Given the description of an element on the screen output the (x, y) to click on. 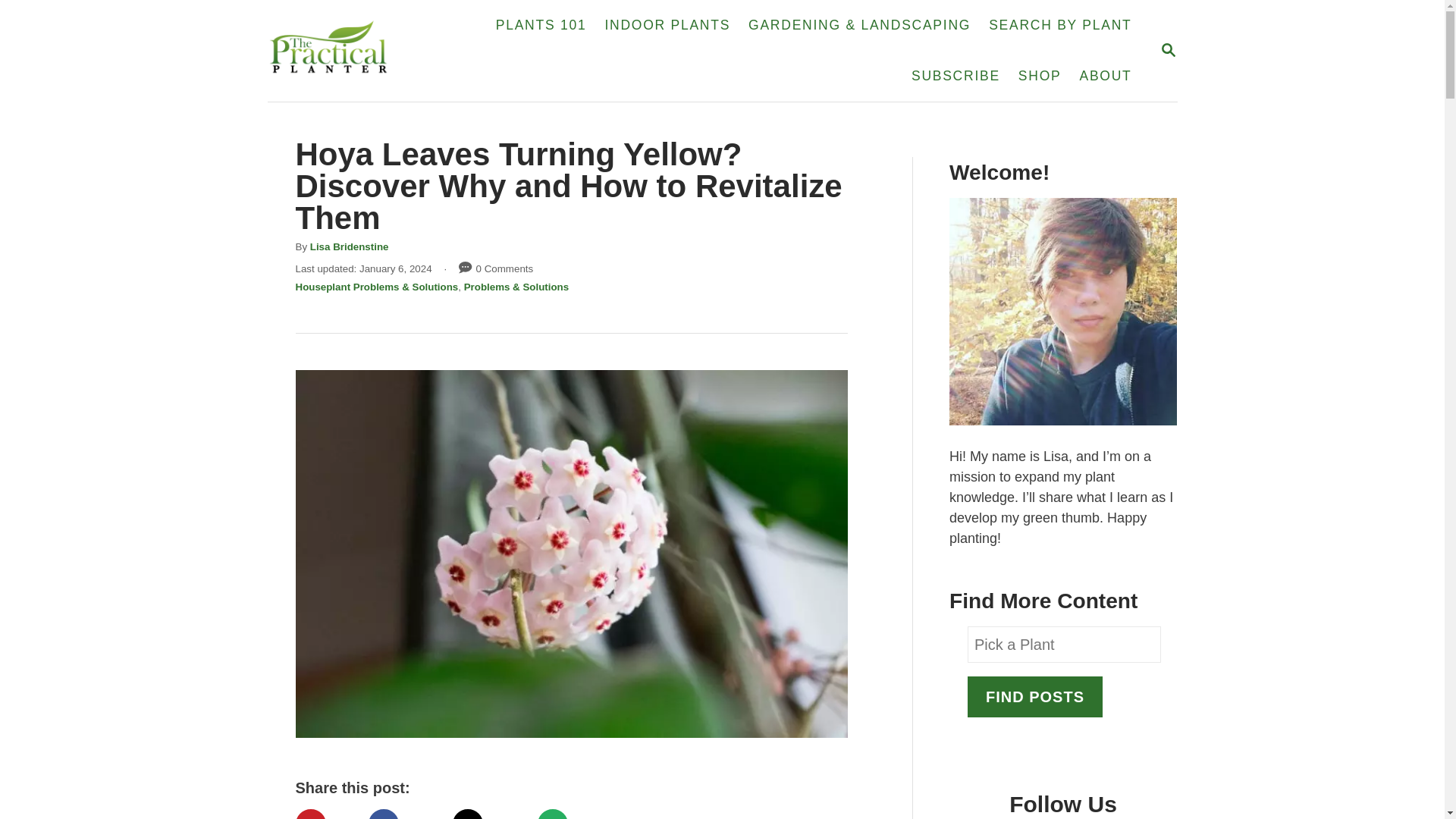
SUBSCRIBE (1167, 50)
Lisa Bridenstine (955, 76)
PLANTS 101 (349, 246)
ABOUT (540, 25)
Save to Pinterest (1105, 76)
SHOP (326, 814)
Share on X (1039, 76)
Pin (488, 814)
MAGNIFYING GLASS (326, 814)
Find Posts (1167, 49)
The Practical Planter (1035, 696)
Share on Facebook (356, 50)
Send over email (405, 814)
SEARCH BY PLANT (573, 814)
